Given the description of an element on the screen output the (x, y) to click on. 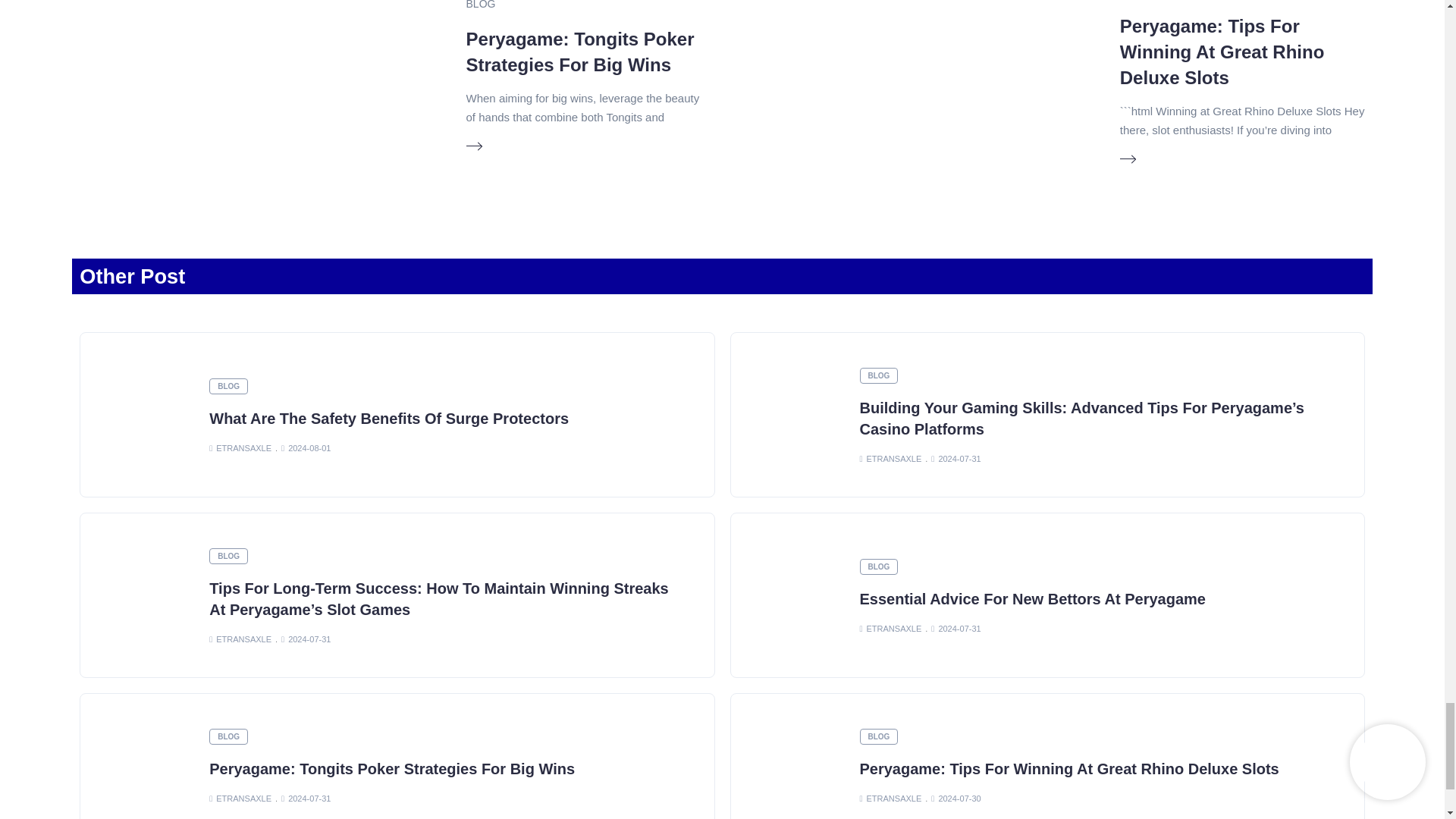
ETRANSAXLE (890, 458)
ETRANSAXLE (239, 447)
Peryagame: Tongits Poker Strategies For Big Wins (579, 51)
What Are The Safety Benefits Of Surge Protectors (389, 418)
Peryagame: Tips For Winning At Great Rhino Deluxe Slots (1221, 50)
What Are the Safety Benefits of Surge Protectors (389, 418)
Peryagame: Tongits Poker Strategies for Big Wins (579, 51)
BLOG (879, 375)
Essential Advice for New Bettors at peryagame (1032, 598)
BLOG (480, 4)
Peryagame: Tips for Winning at Great Rhino Deluxe Slots (1221, 50)
BLOG (228, 385)
Peryagame: Tongits Poker Strategies for Big Wins (392, 768)
BLOG (228, 555)
